Given the description of an element on the screen output the (x, y) to click on. 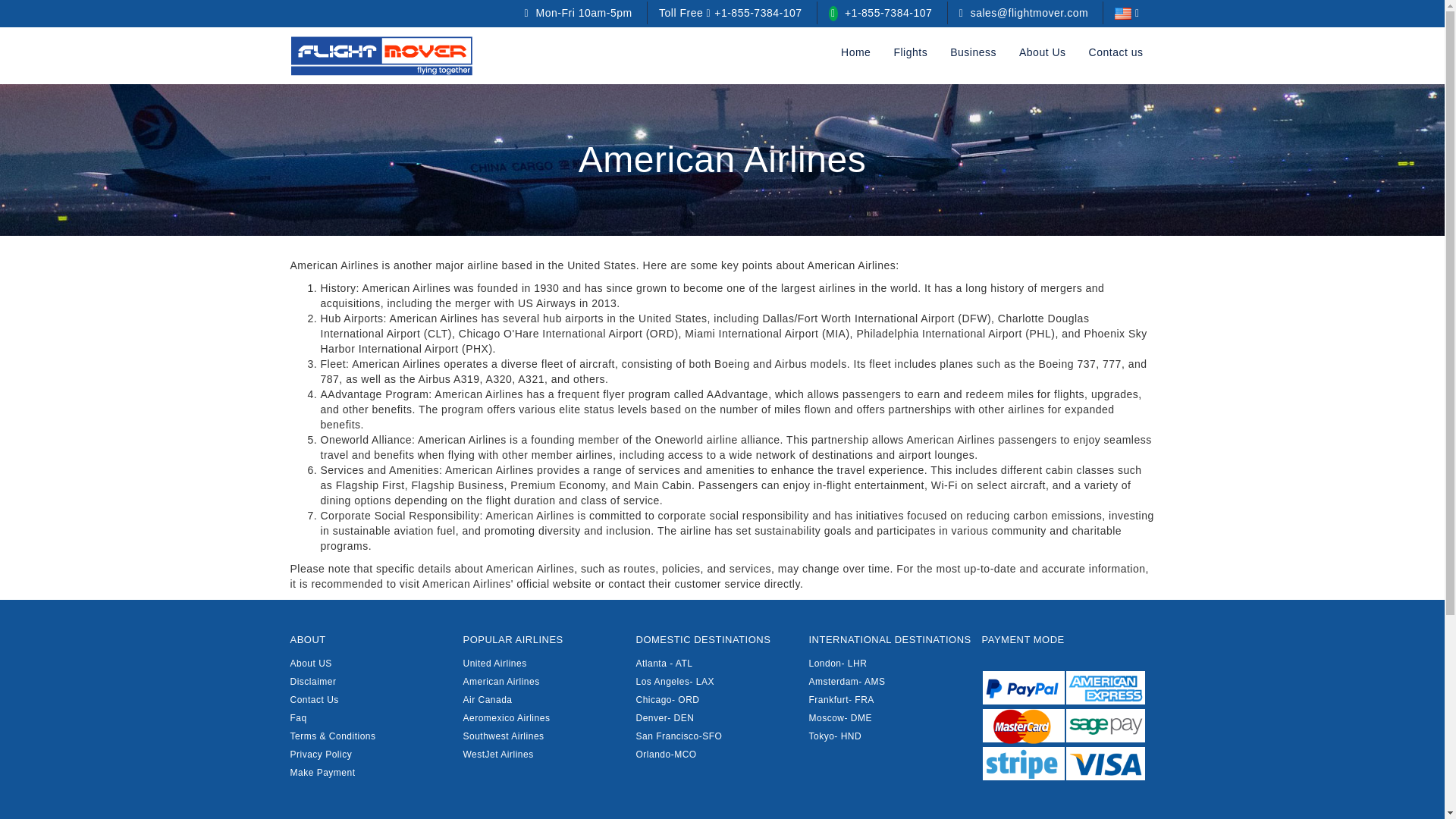
Orlando-MCO (664, 754)
Business (973, 52)
Flights (910, 52)
Denver- DEN (664, 717)
Stripe (1023, 763)
About US (310, 663)
 PayPal (1023, 687)
Air Canada (487, 699)
Sagepay (1104, 725)
Make Payment (322, 772)
Southwest Airlines (503, 736)
Frankfurt- FRA (840, 699)
About Us (1042, 52)
Home (855, 52)
Master Card (1023, 725)
